Given the description of an element on the screen output the (x, y) to click on. 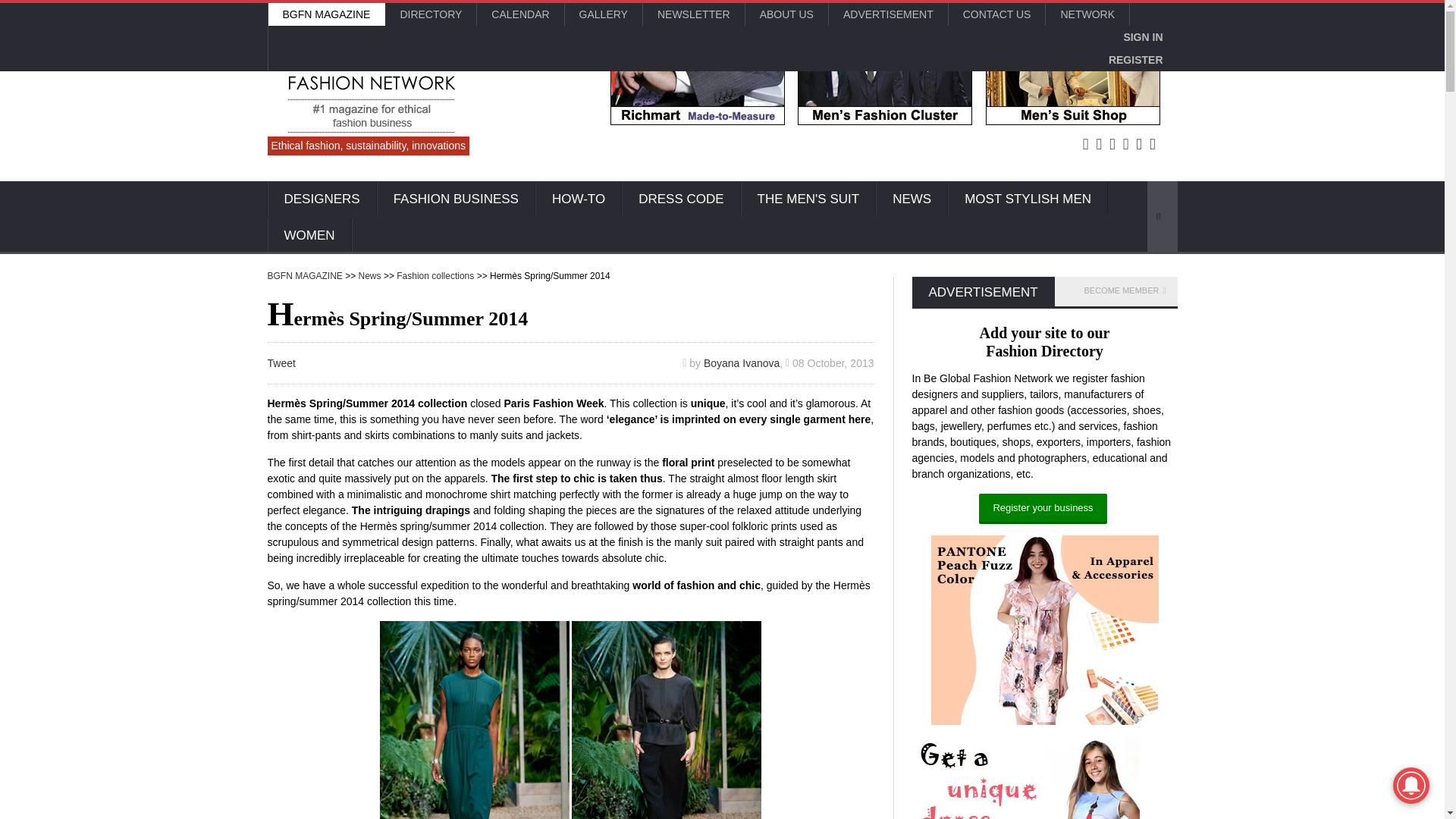
DESIGNERS (320, 198)
GALLERY (603, 14)
ADVERTISEMENT (887, 14)
DIRECTORY (430, 14)
ABOUT US (786, 14)
SIGN IN (1142, 36)
NETWORK (1087, 14)
REGISTER (1135, 59)
CONTACT US (997, 14)
CALENDAR (520, 14)
BGFN MAGAZINE (326, 14)
NEWSLETTER (693, 14)
